Given the description of an element on the screen output the (x, y) to click on. 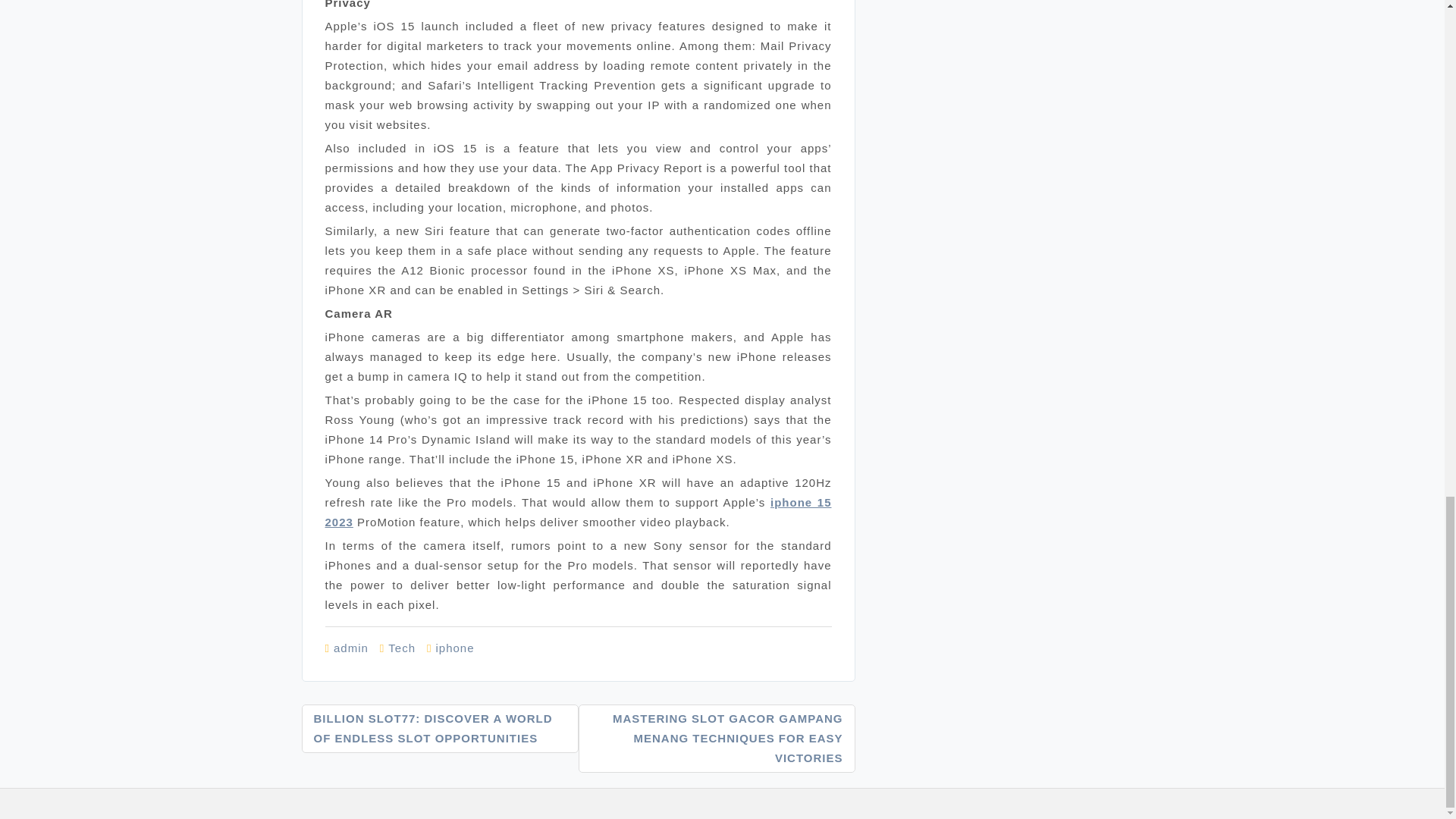
Tech (401, 647)
admin (350, 647)
iphone 15 2023 (577, 512)
iphone (454, 647)
